Given the description of an element on the screen output the (x, y) to click on. 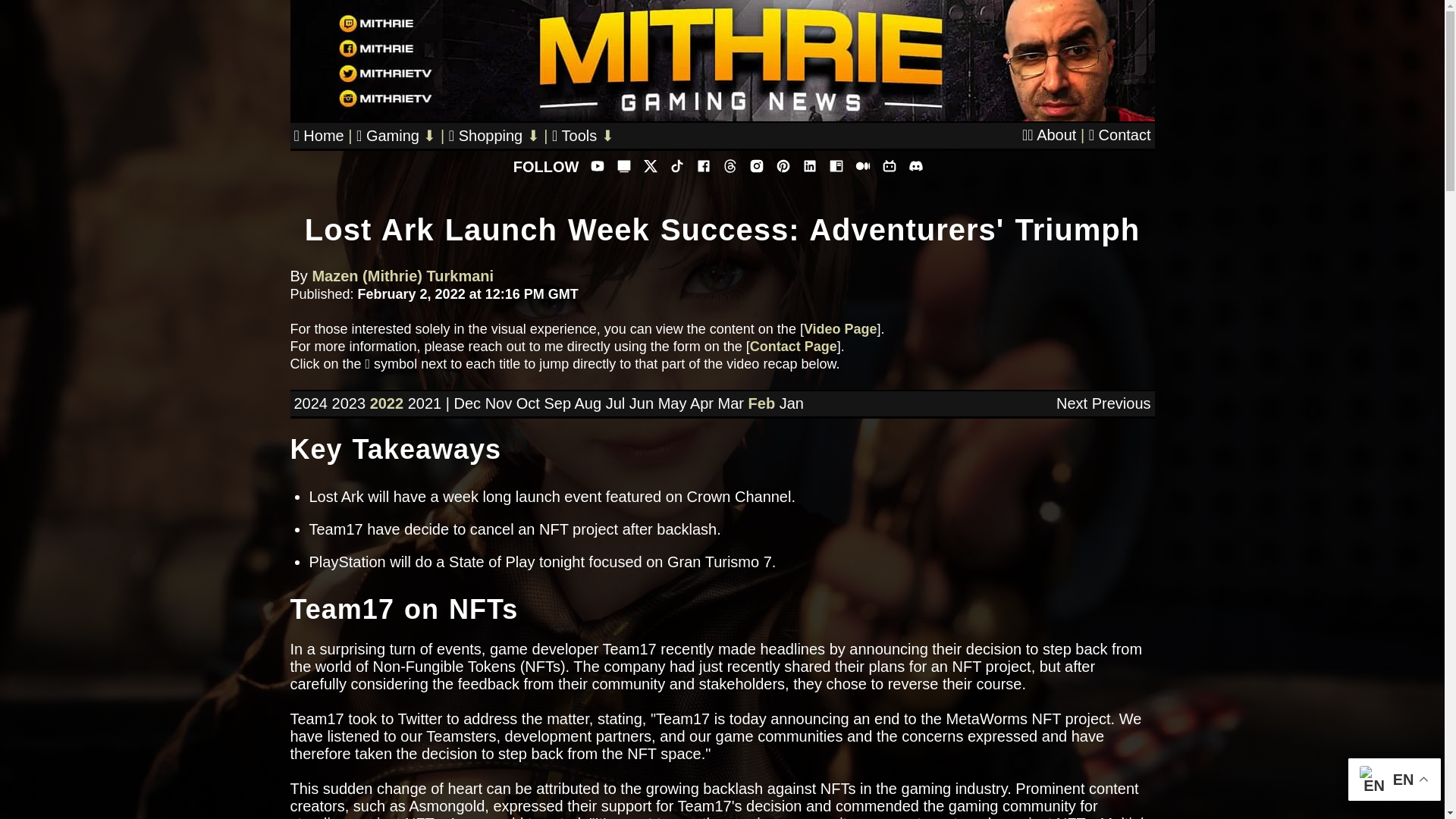
Dec (466, 402)
2021 (424, 402)
Video Page (840, 328)
2023 (348, 402)
2024 (311, 402)
Contact Page (793, 346)
